Given the description of an element on the screen output the (x, y) to click on. 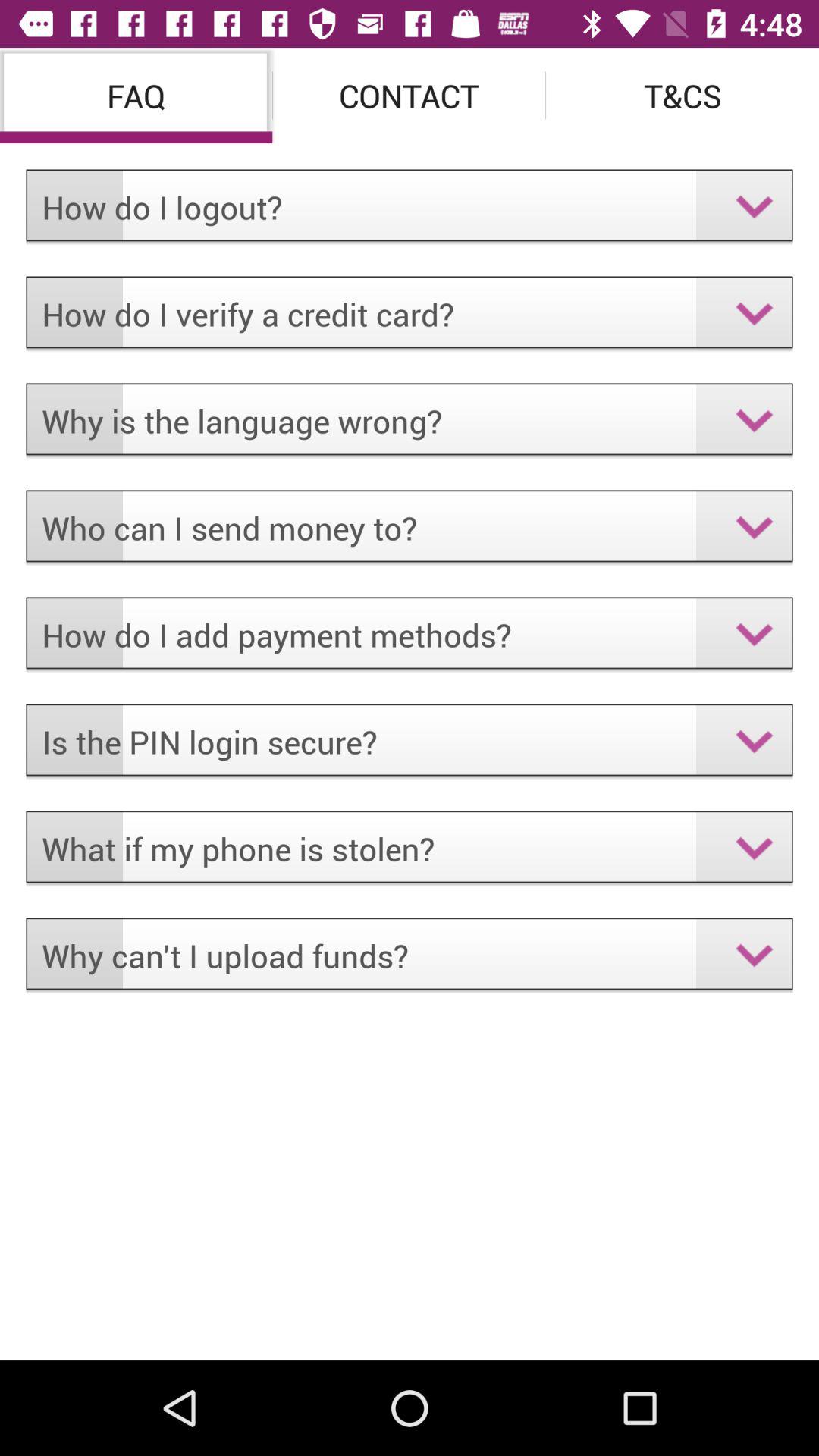
choose the item above the how do i item (409, 95)
